Given the description of an element on the screen output the (x, y) to click on. 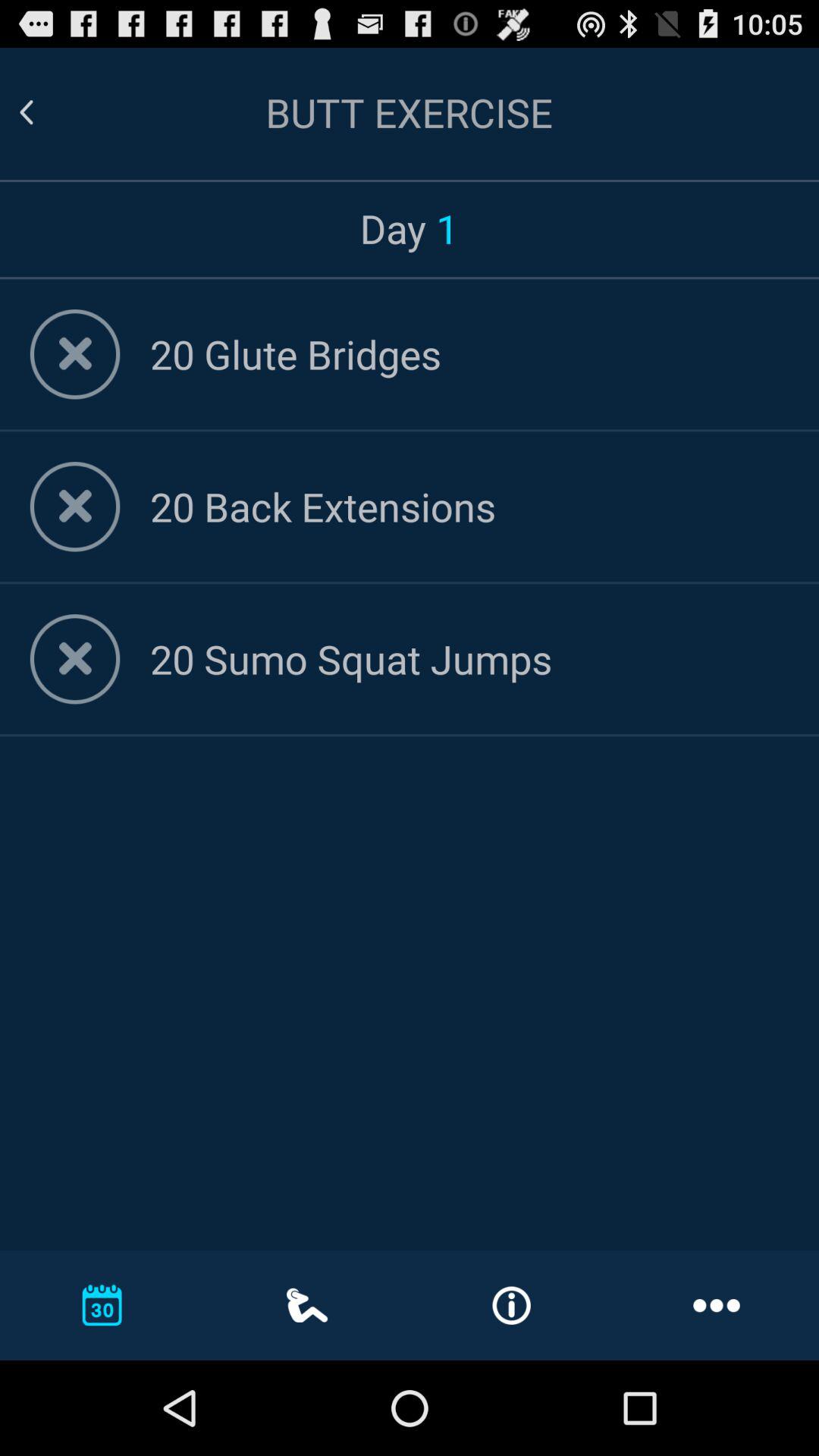
scroll until 20 back extensions app (469, 506)
